Given the description of an element on the screen output the (x, y) to click on. 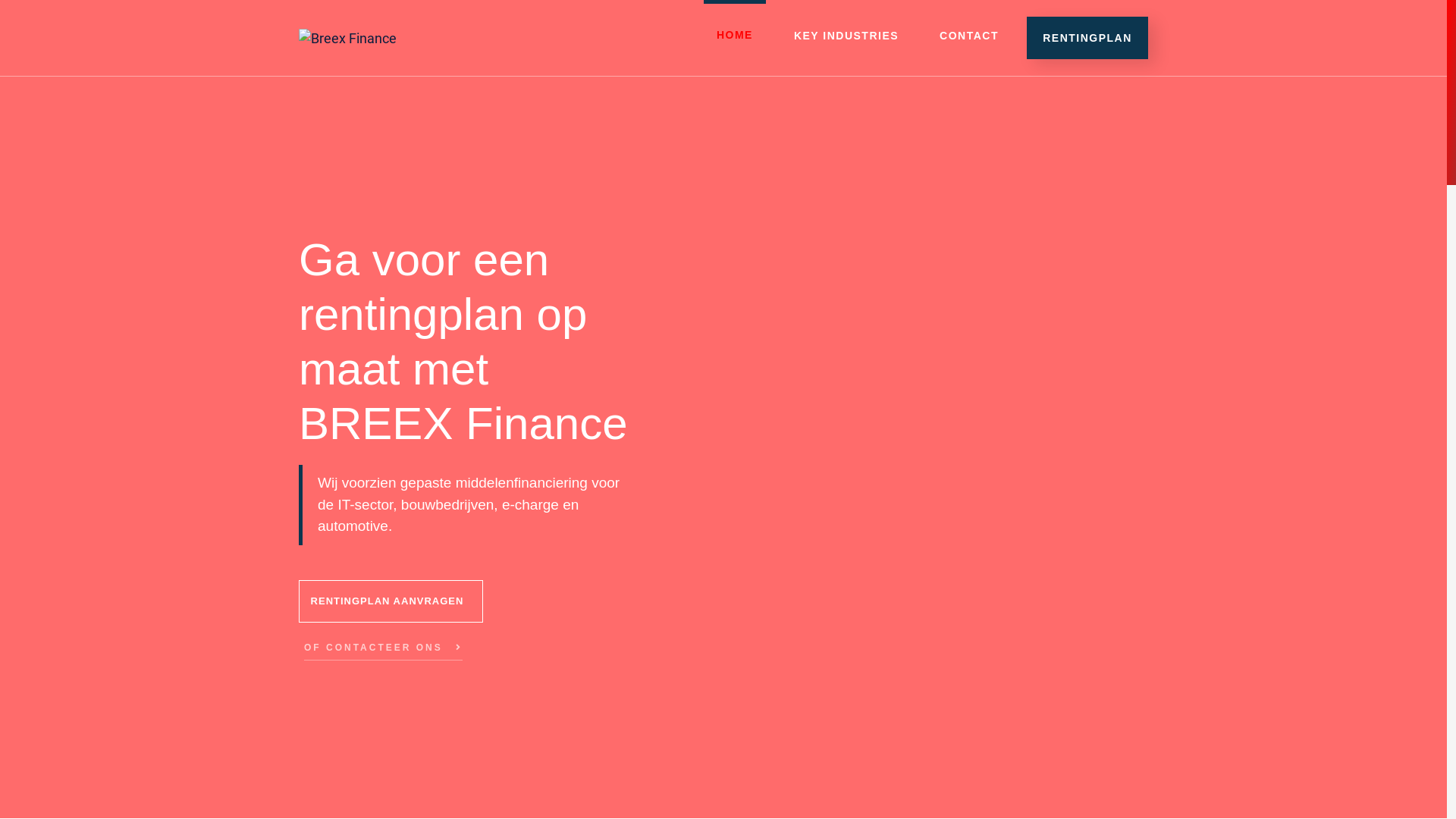
HOME Element type: text (734, 26)
OF CONTACTEER ONS Element type: text (383, 651)
RENTINGPLAN Element type: text (1087, 37)
RENTINGPLAN AANVRAGEN Element type: text (390, 601)
CONTACT Element type: text (968, 35)
KEY INDUSTRIES Element type: text (846, 35)
